Given the description of an element on the screen output the (x, y) to click on. 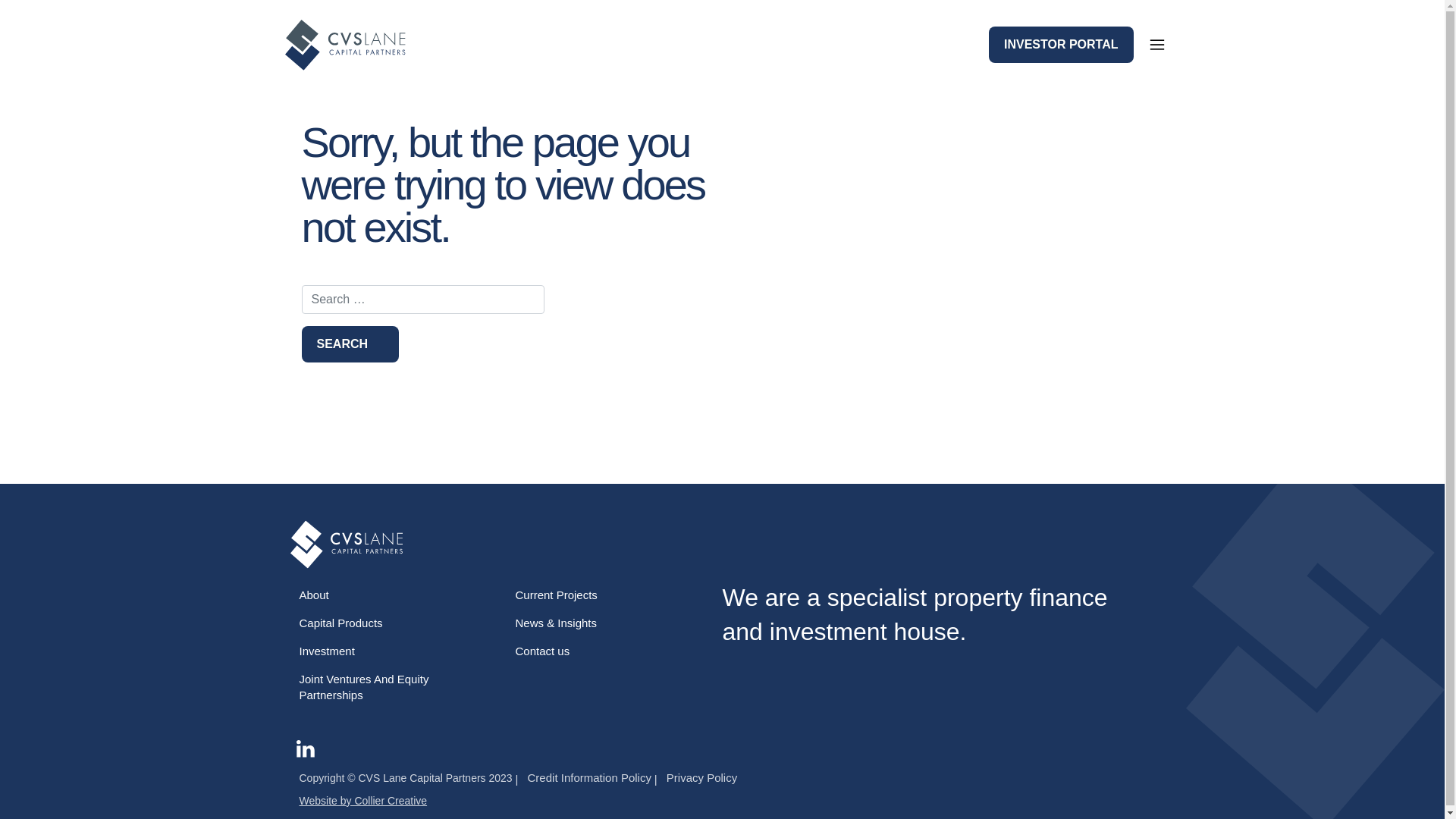
Credit Information Policy Element type: text (583, 777)
CVS Lane Capital Partners Element type: hover (351, 44)
Investment Element type: text (386, 651)
Contact us Element type: text (602, 651)
Capital Products Element type: text (386, 622)
Search Element type: text (349, 344)
News & Insights Element type: text (602, 622)
Joint Ventures And Equity Partnerships Element type: text (386, 687)
Website by Collier Creative Element type: text (362, 800)
Privacy Policy Element type: text (695, 777)
INVESTOR PORTAL Element type: text (1060, 44)
About Element type: text (386, 594)
Current Projects Element type: text (602, 594)
